Given the description of an element on the screen output the (x, y) to click on. 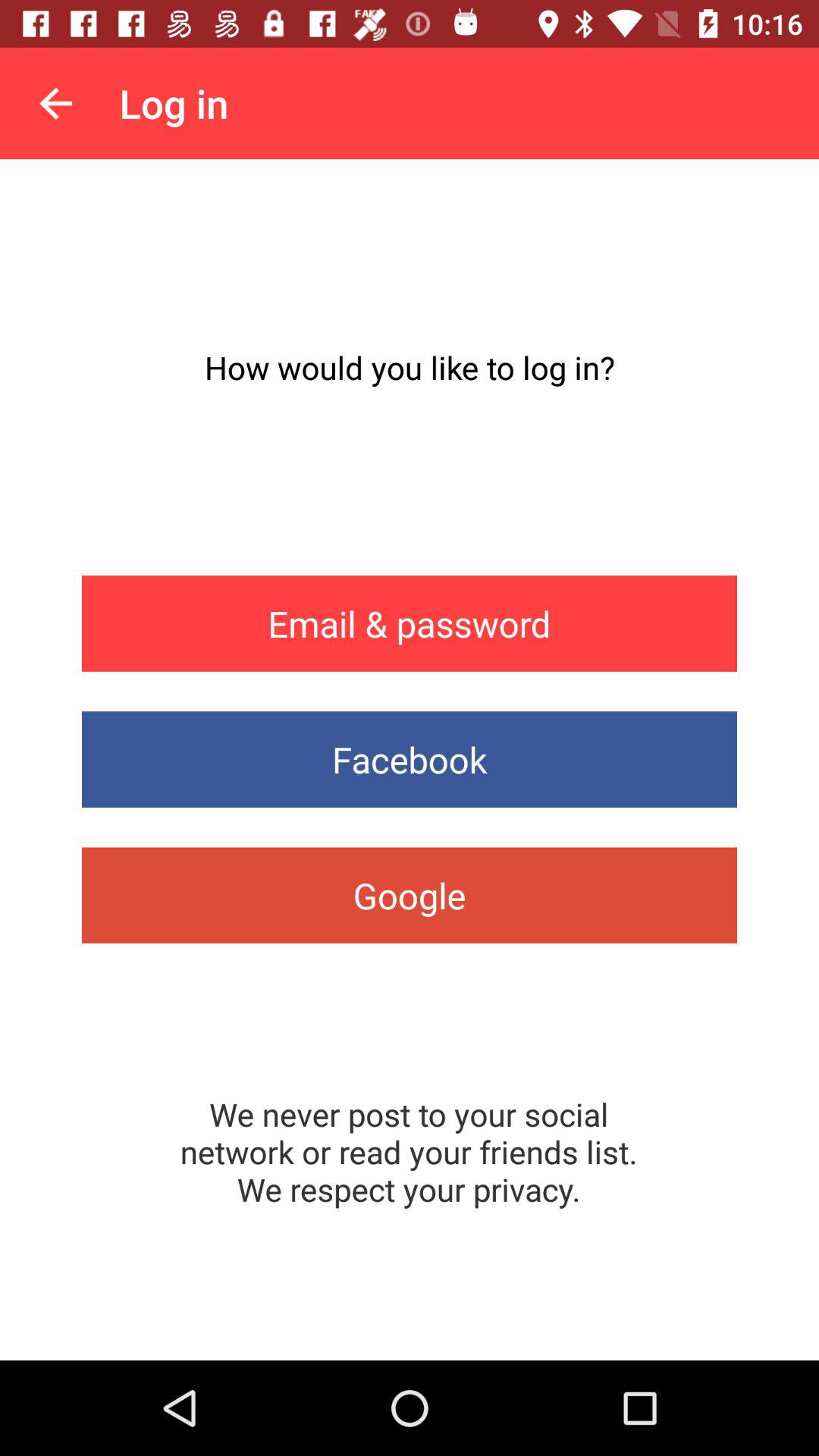
swipe until the email & password (409, 623)
